Given the description of an element on the screen output the (x, y) to click on. 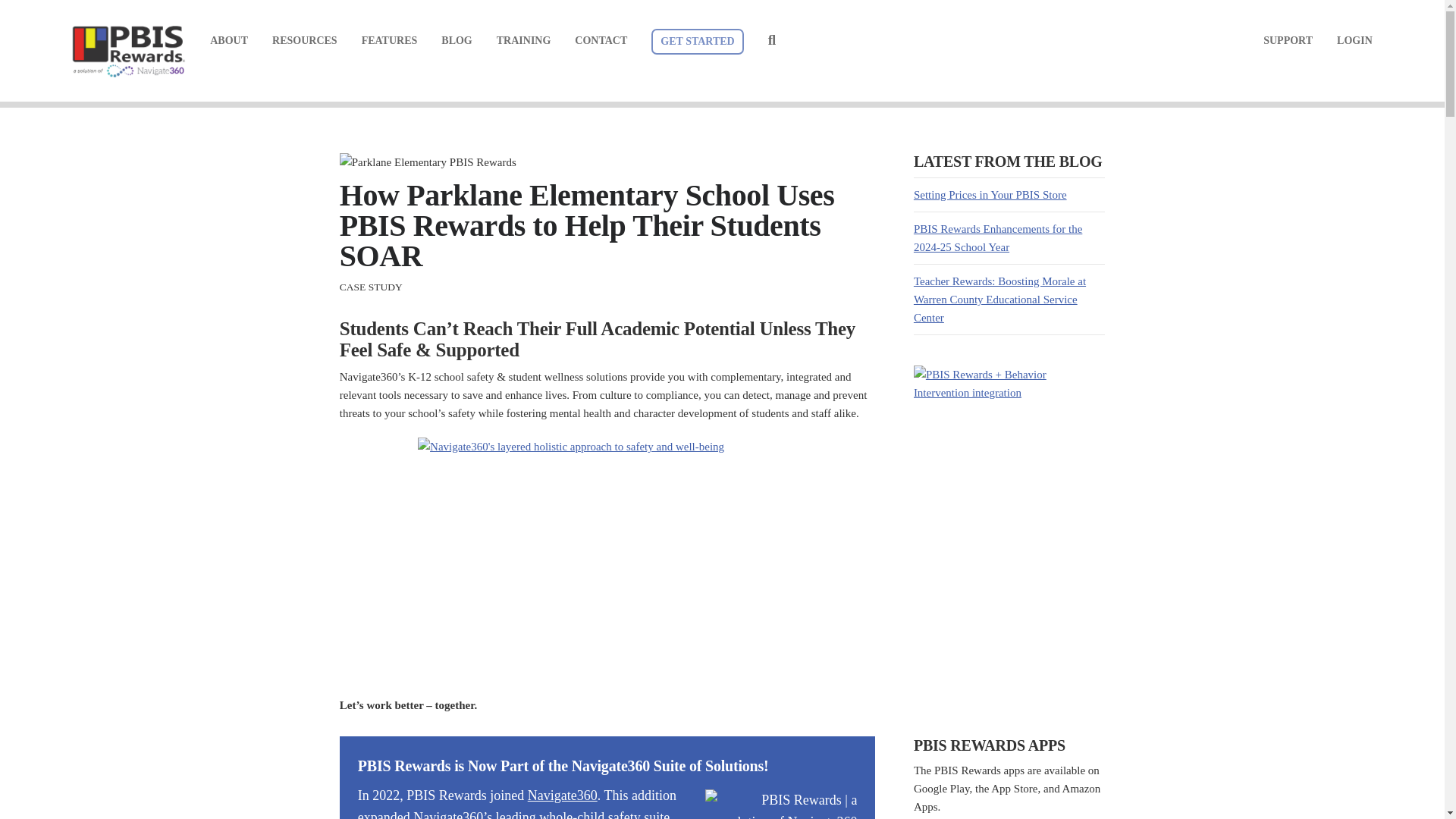
ABOUT (228, 40)
CONTACT (601, 40)
FEATURES (389, 40)
TRAINING (523, 40)
PBIS Training (523, 40)
RESOURCES (304, 40)
Features of PBIS Rewards (389, 40)
PBIS Rewards Logo (128, 53)
Contact PBIS Rewards (601, 40)
